Given the description of an element on the screen output the (x, y) to click on. 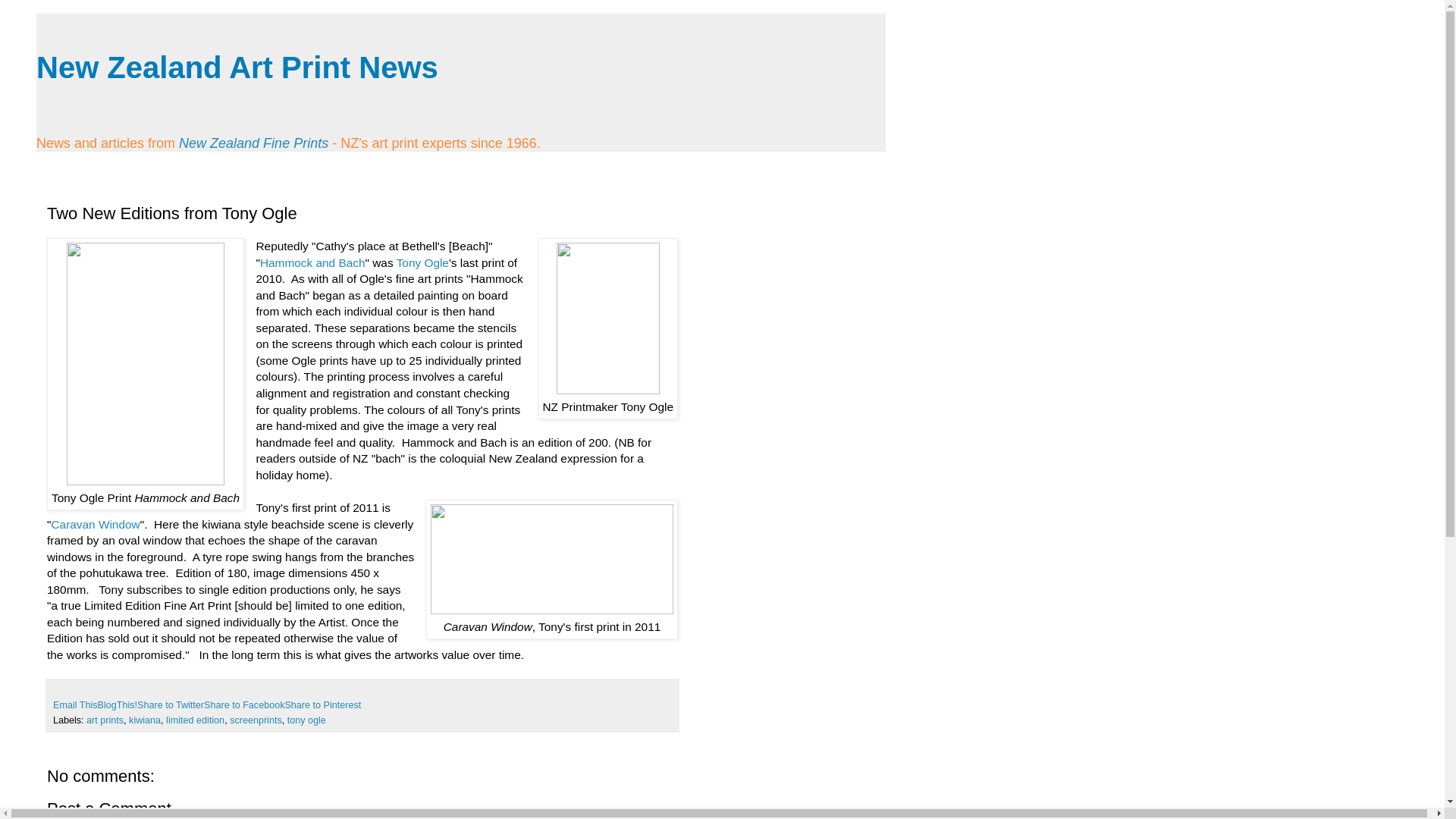
tony ogle (306, 719)
New Zealand Fine Prints (255, 142)
Tony Ogle (422, 262)
Share to Facebook (243, 705)
Email Post (59, 689)
Share to Pinterest (322, 705)
Share to Twitter (169, 705)
Share to Twitter (169, 705)
limited edition (194, 719)
Email This (74, 705)
